Given the description of an element on the screen output the (x, y) to click on. 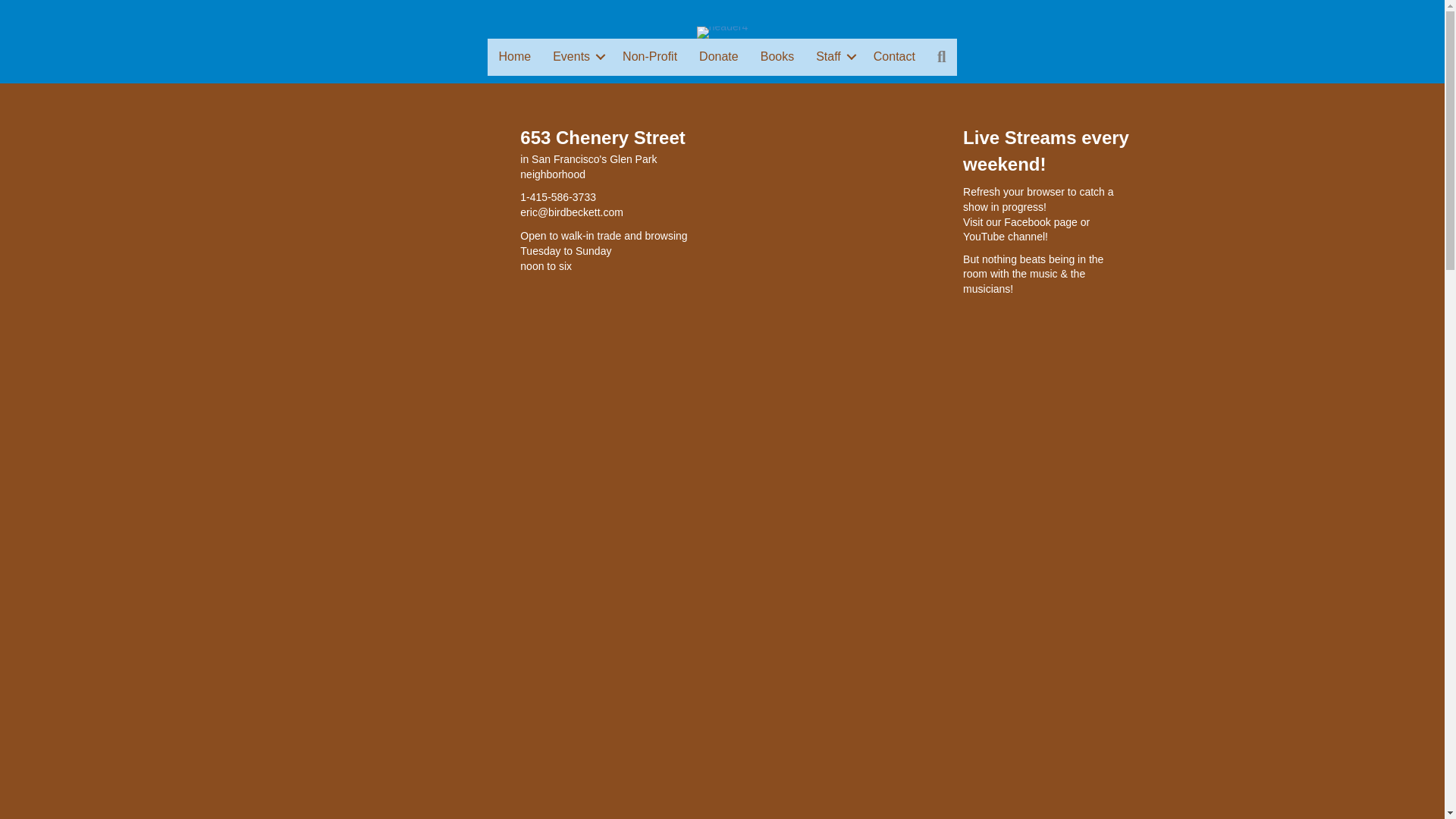
Donate (718, 56)
1-415-586-3733 (557, 196)
Staff (833, 56)
Books (777, 56)
Contact (894, 56)
Home (514, 56)
Events (576, 56)
Events (576, 56)
YouTube player (834, 231)
YouTube channel (1003, 236)
Facebook page (1040, 222)
header4 (722, 32)
Non-Profit (649, 56)
